Given the description of an element on the screen output the (x, y) to click on. 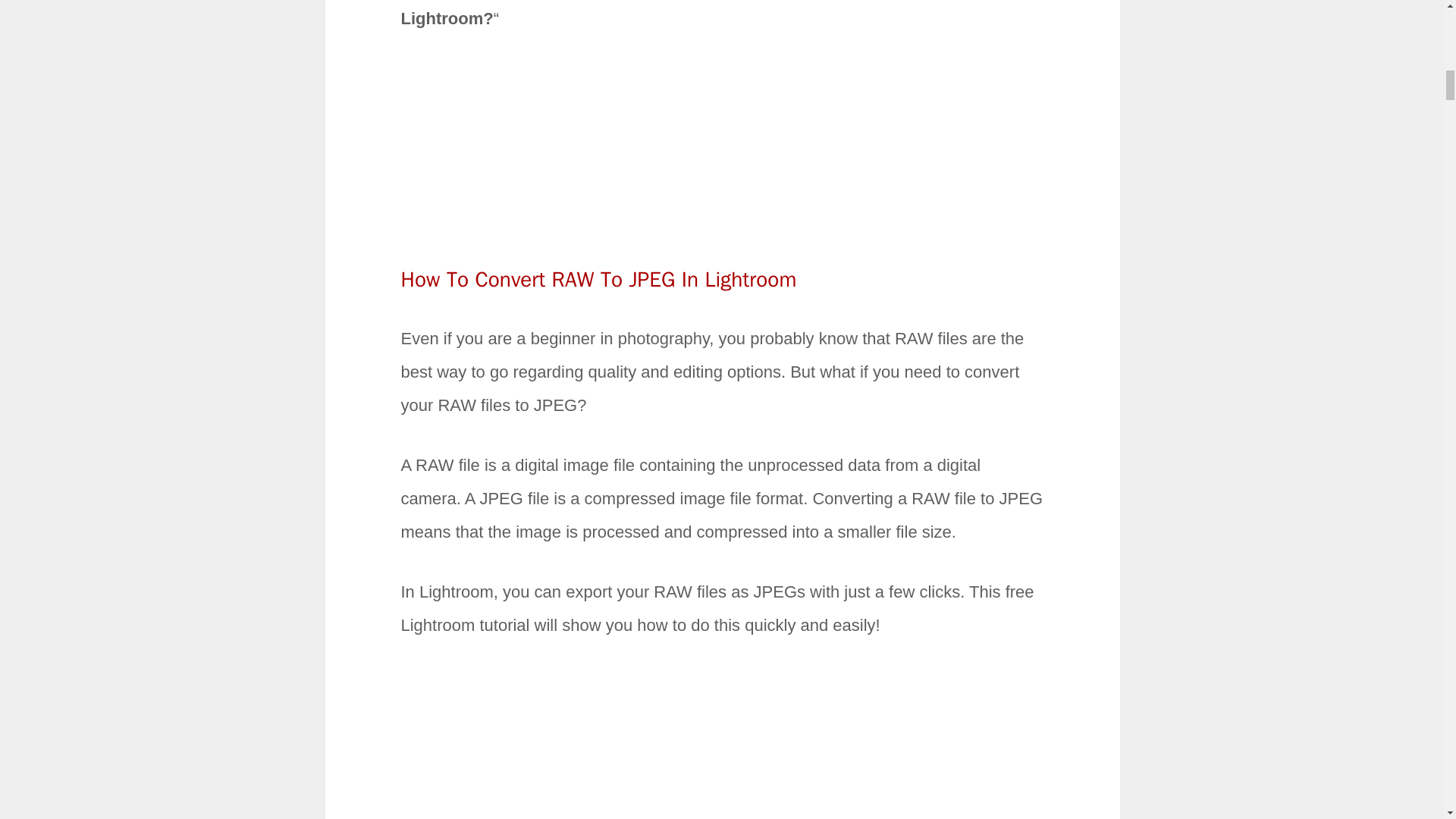
How To Convert RAW To JPEG In Lightroom (598, 279)
